Given the description of an element on the screen output the (x, y) to click on. 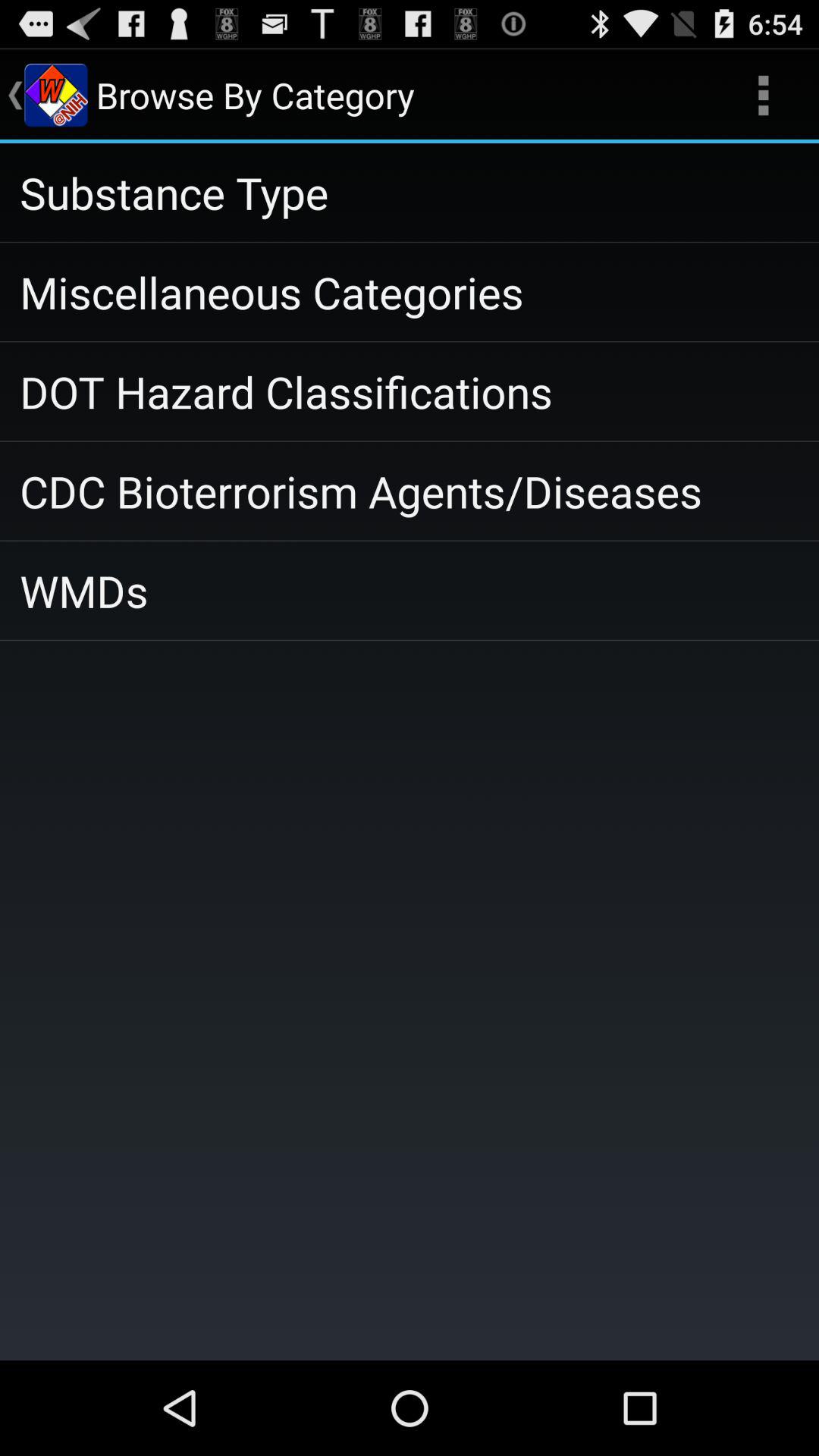
click the item at the top right corner (763, 95)
